Given the description of an element on the screen output the (x, y) to click on. 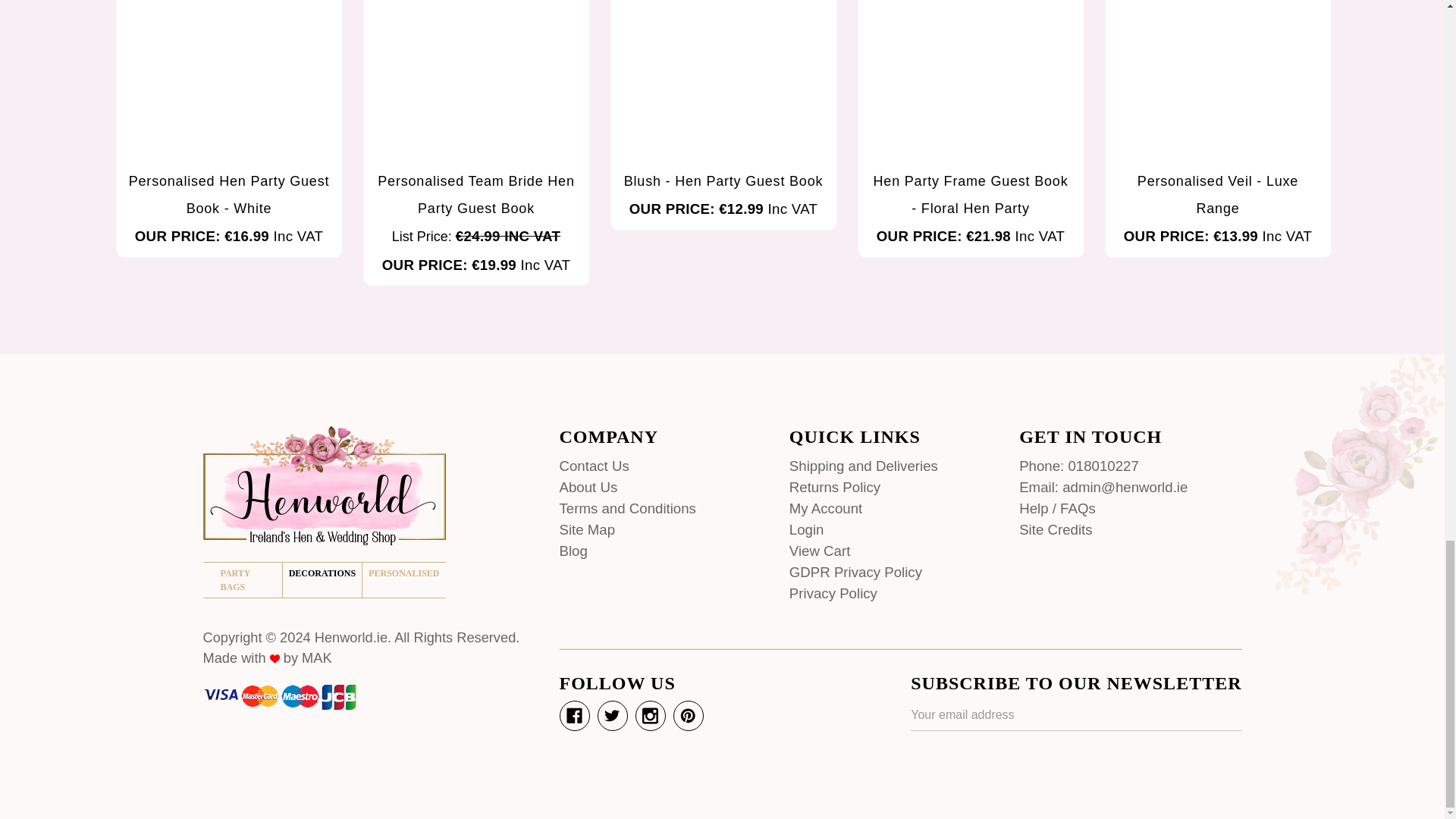
Hen Party Frame Guest Book - Floral Hen Party (971, 80)
Personalised Hen Party Guest Book - White (229, 80)
Personalised Team Bride Hen Party Guest Book (476, 80)
Blush - Hen Party Guest Book (723, 80)
Personalised Veil - Luxe Range (1217, 80)
Bigcommerce Development (274, 658)
